Given the description of an element on the screen output the (x, y) to click on. 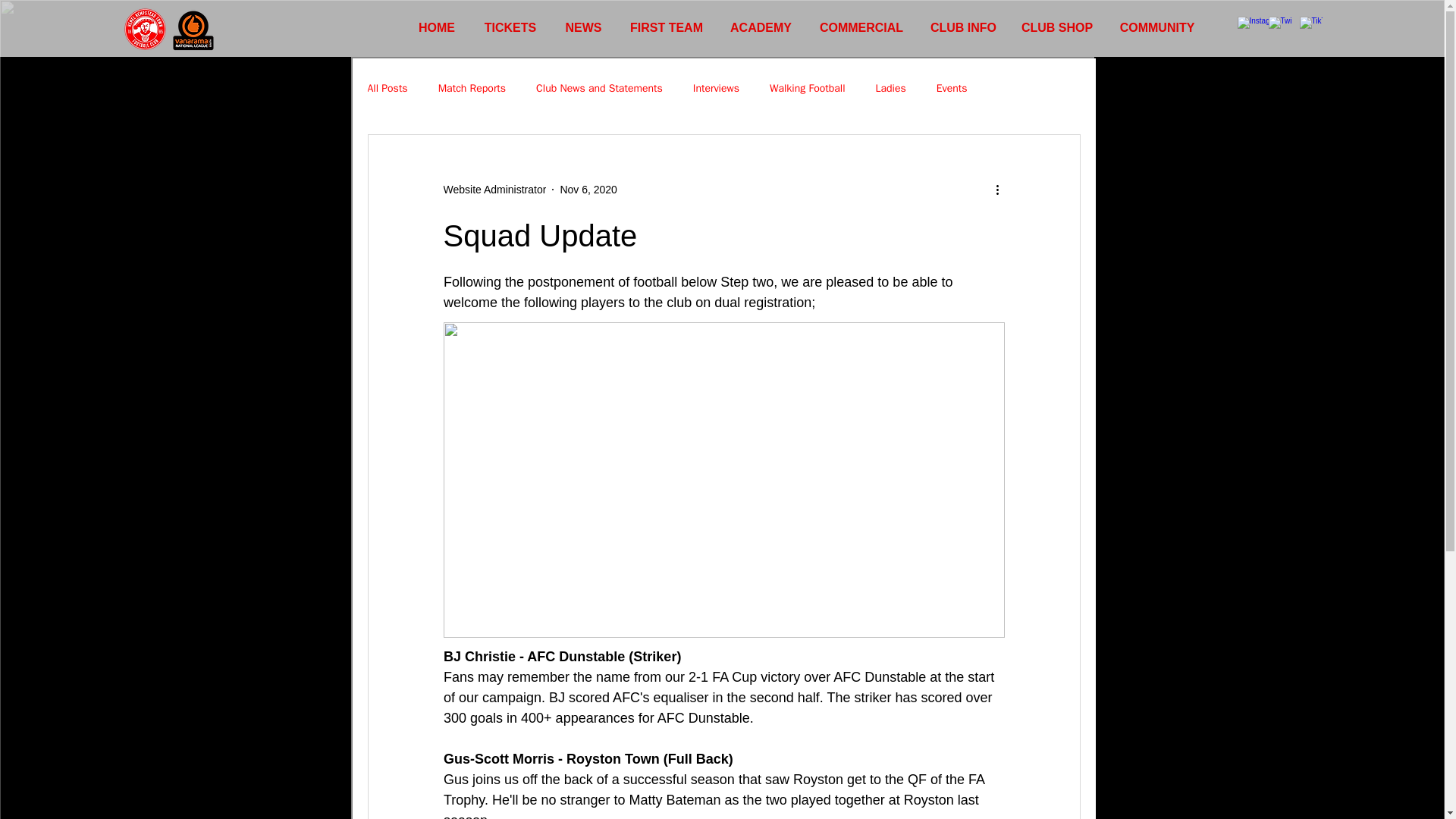
Interviews (716, 88)
Club News and Statements (598, 88)
All Posts (386, 88)
CLUB SHOP (1057, 27)
Nov 6, 2020 (588, 189)
Ladies (890, 88)
HOME (436, 27)
Walking Football (807, 88)
Website Administrator (494, 189)
ACADEMY (760, 27)
NEWS (583, 27)
Match Reports (471, 88)
